Given the description of an element on the screen output the (x, y) to click on. 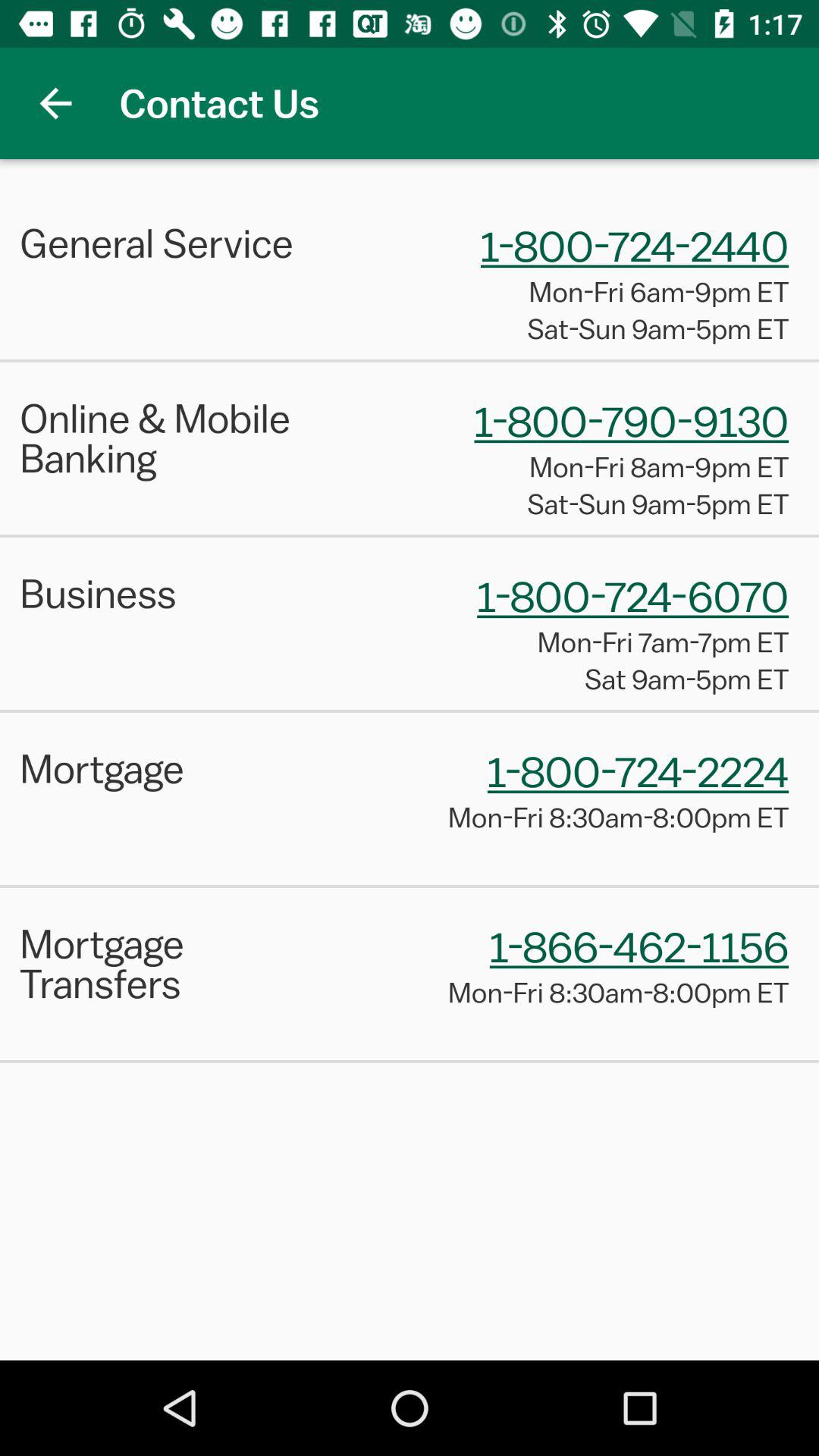
choose item to the left of 1 800 790 icon (179, 437)
